Given the description of an element on the screen output the (x, y) to click on. 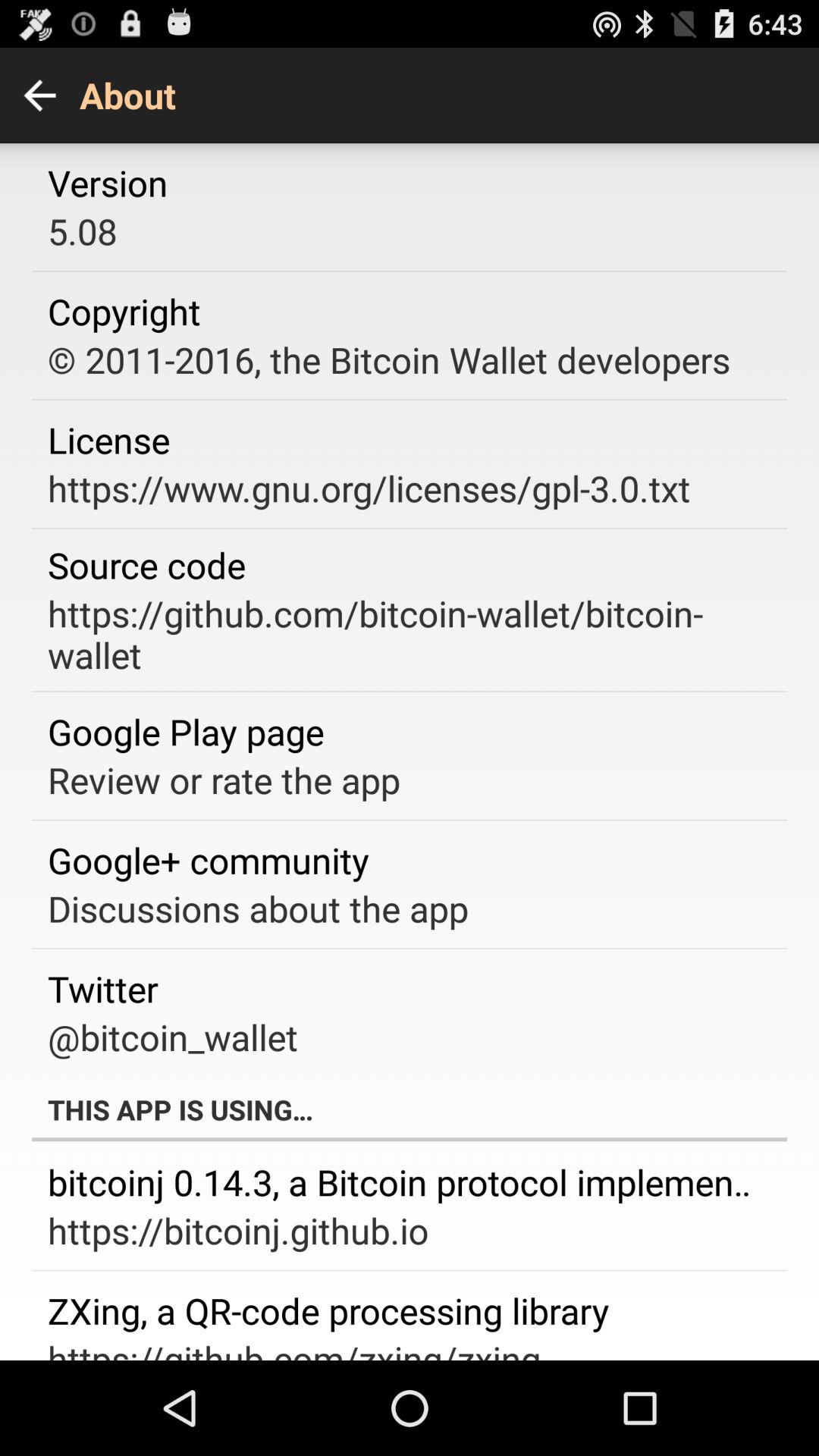
press 5.08 (82, 231)
